Given the description of an element on the screen output the (x, y) to click on. 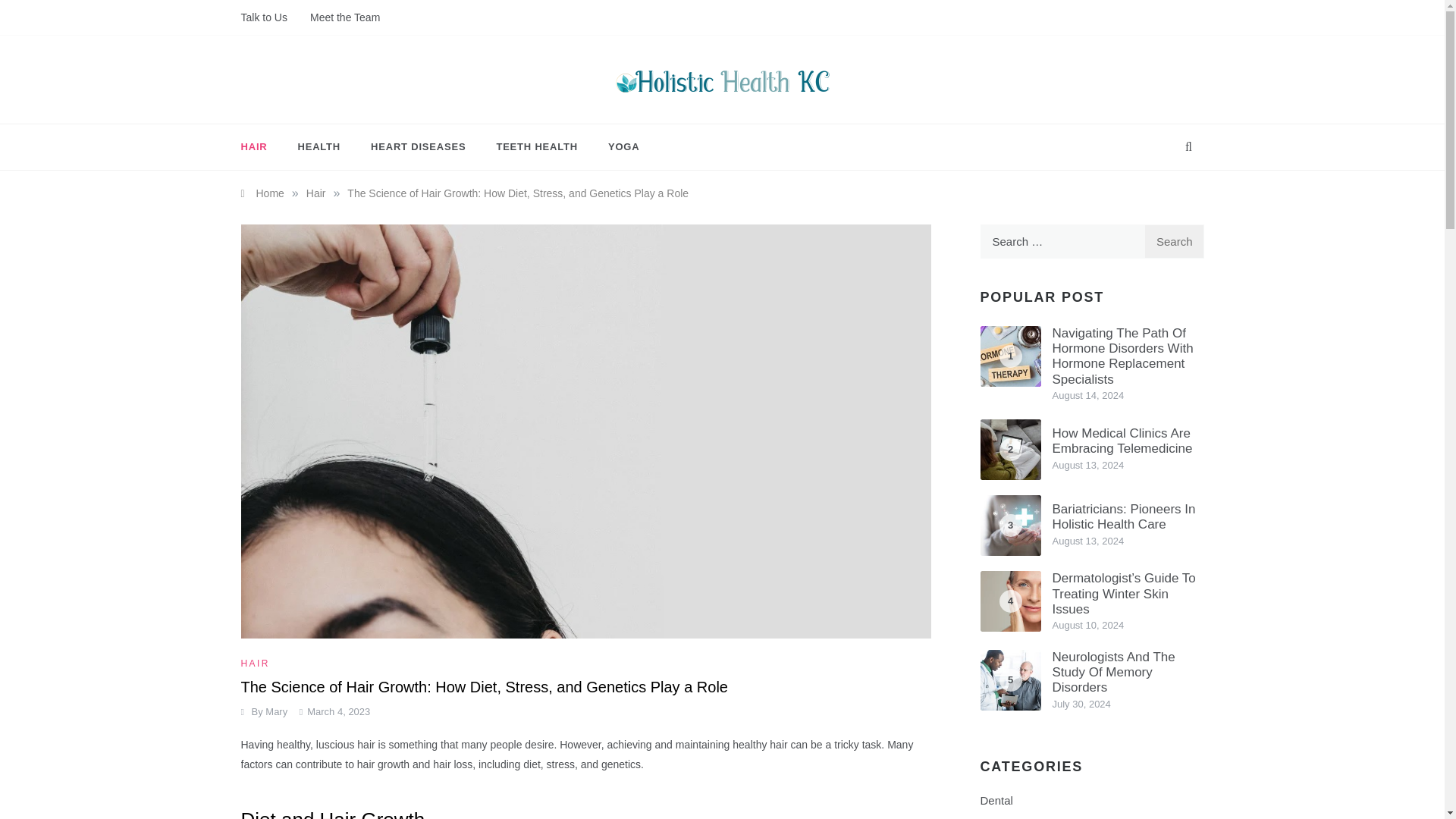
Search (1174, 241)
Search (1174, 241)
Search (1174, 241)
Mary (275, 711)
TEETH HEALTH (536, 146)
Holistic Health Kc (656, 112)
Home (262, 193)
HEART DISEASES (417, 146)
Bariatricians: Pioneers In Holistic Health Care (1123, 516)
